Given the description of an element on the screen output the (x, y) to click on. 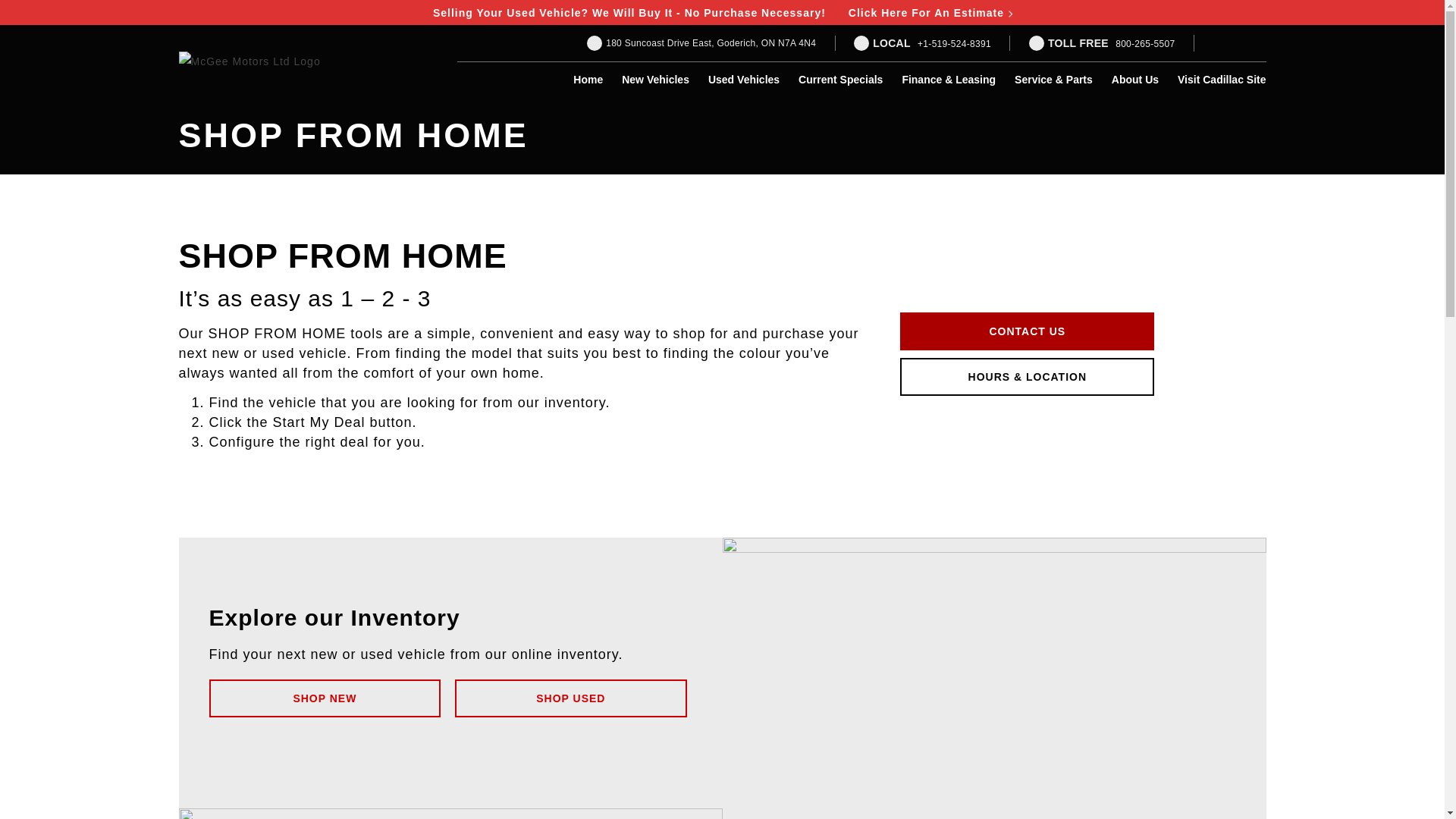
Click Here For An Estimate (929, 12)
New Vehicles (654, 79)
TOLL FREE 800-265-5507 (1101, 43)
Current Specials (839, 79)
Used Vehicles (742, 79)
